Given the description of an element on the screen output the (x, y) to click on. 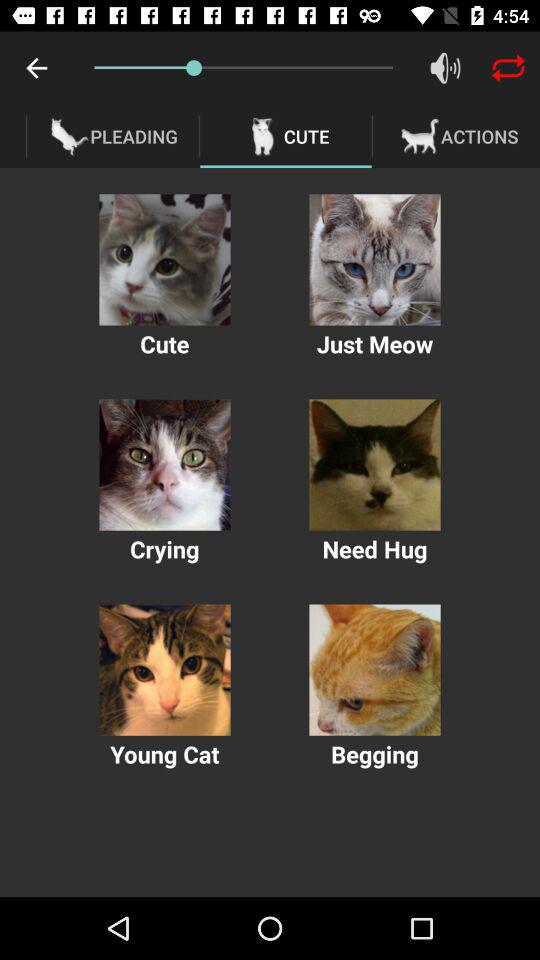
refresh page (508, 67)
